Given the description of an element on the screen output the (x, y) to click on. 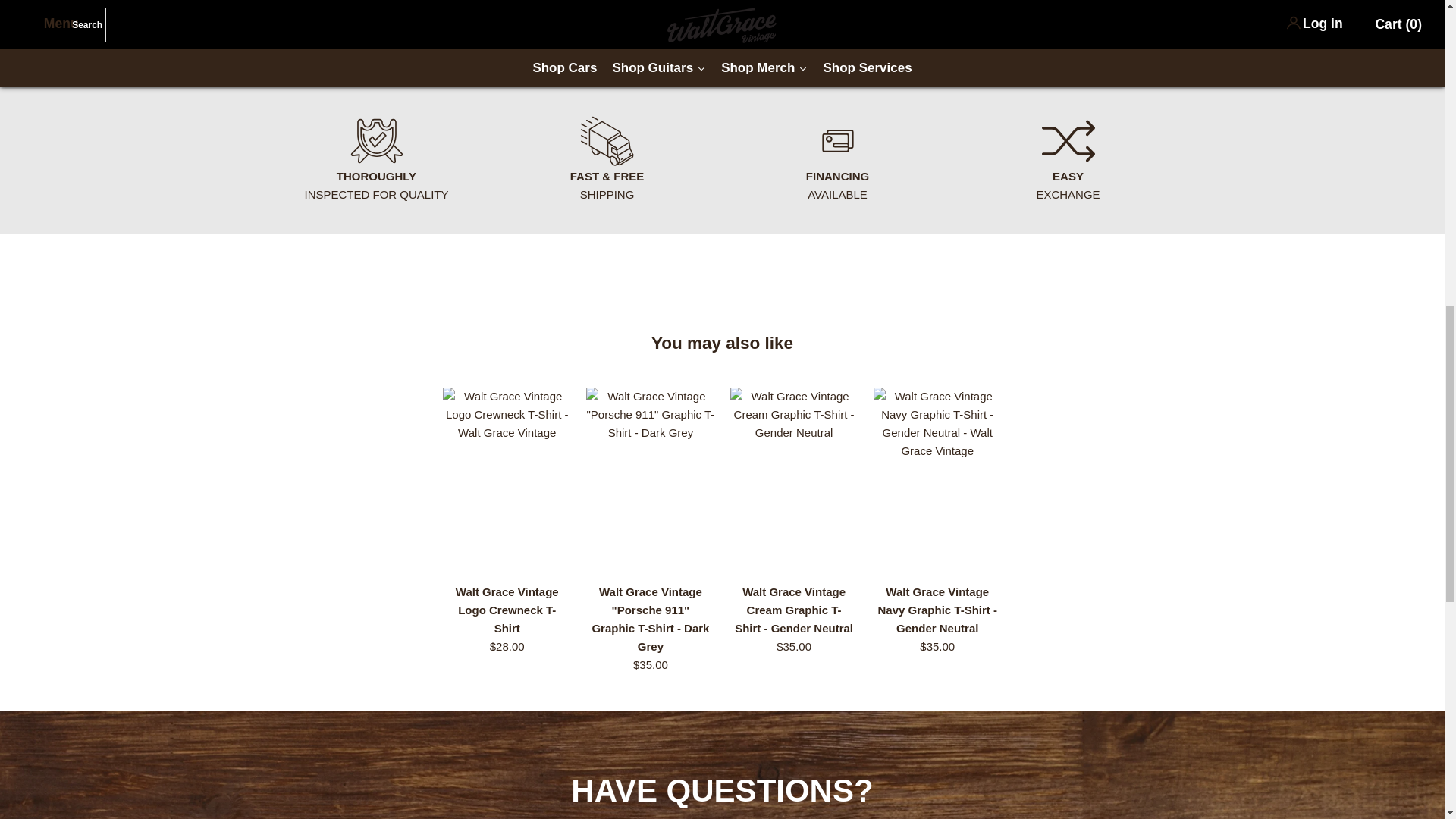
Twitter (812, 41)
Share on Facebook (781, 41)
Pinterest (841, 41)
Share using email (871, 41)
Pin the main image (841, 41)
Facebook (781, 41)
Share on Twitter (812, 41)
Email (871, 41)
